Given the description of an element on the screen output the (x, y) to click on. 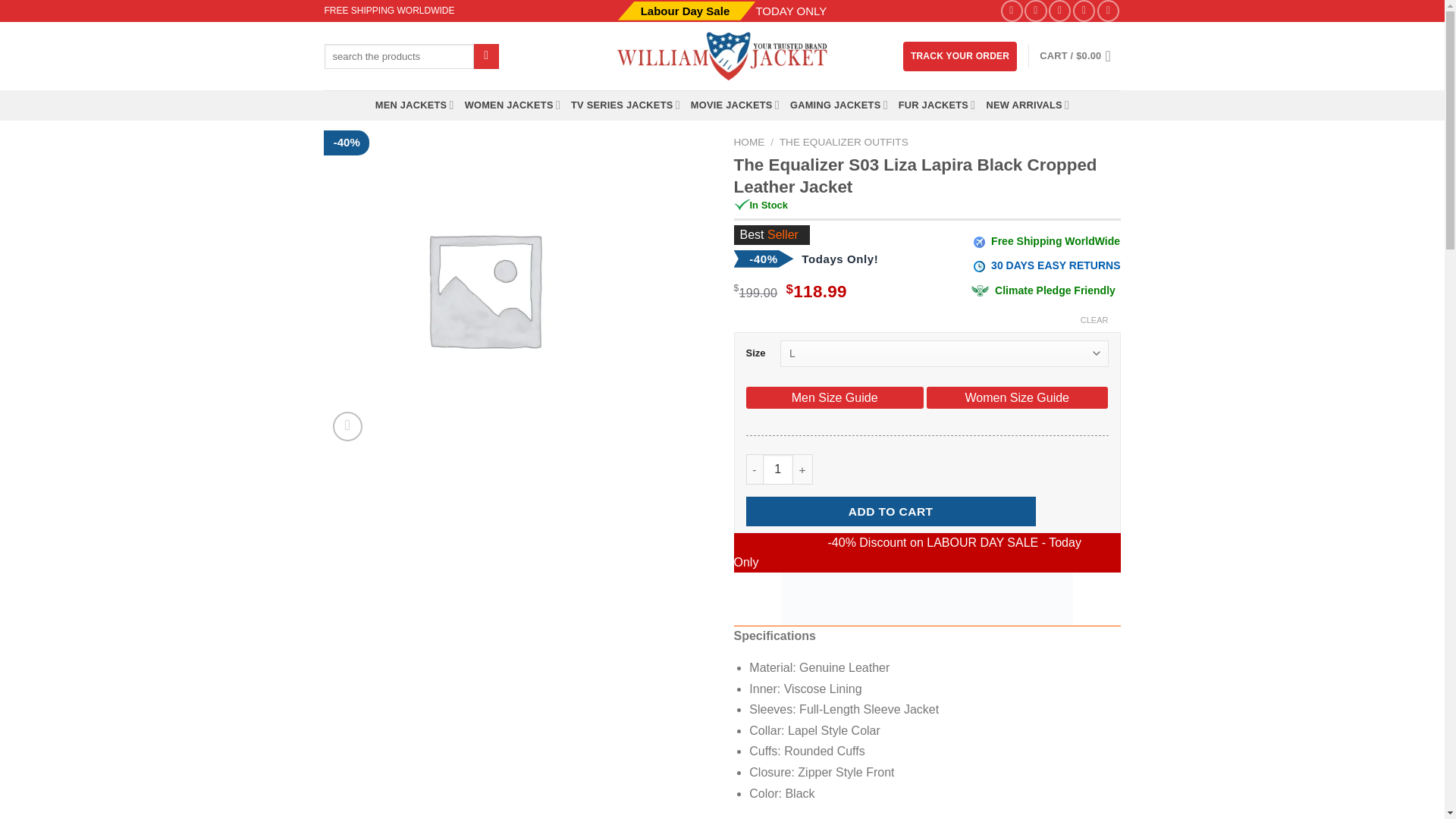
William Jacket - William Jacket your trusted brand (721, 56)
Search (486, 56)
Follow on Twitter (1059, 11)
TRACK YOUR ORDER (959, 56)
Follow on Instagram (1035, 11)
Follow on Pinterest (1083, 11)
1 (777, 469)
MEN JACKETS (414, 104)
Cart (1079, 55)
Zoom (347, 426)
